Given the description of an element on the screen output the (x, y) to click on. 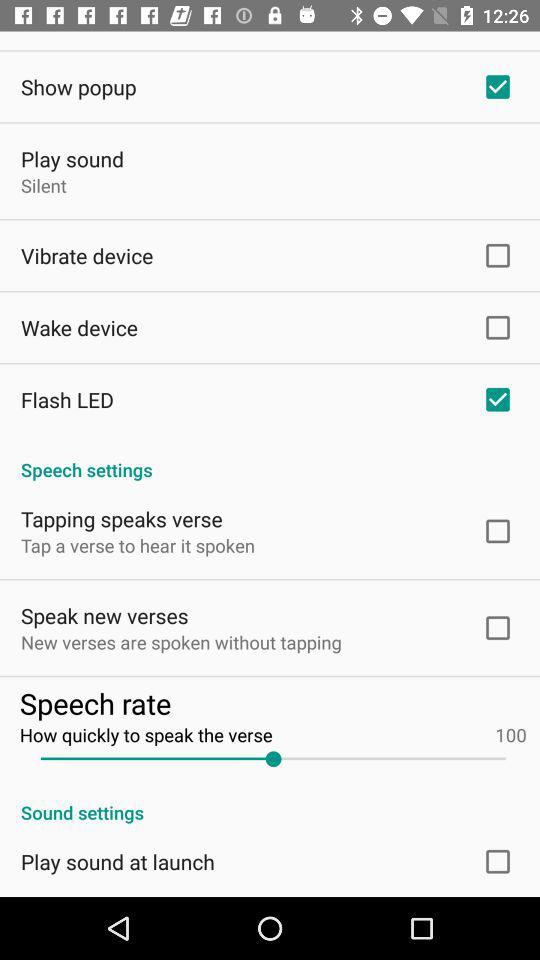
turn off item below play sound item (43, 185)
